Given the description of an element on the screen output the (x, y) to click on. 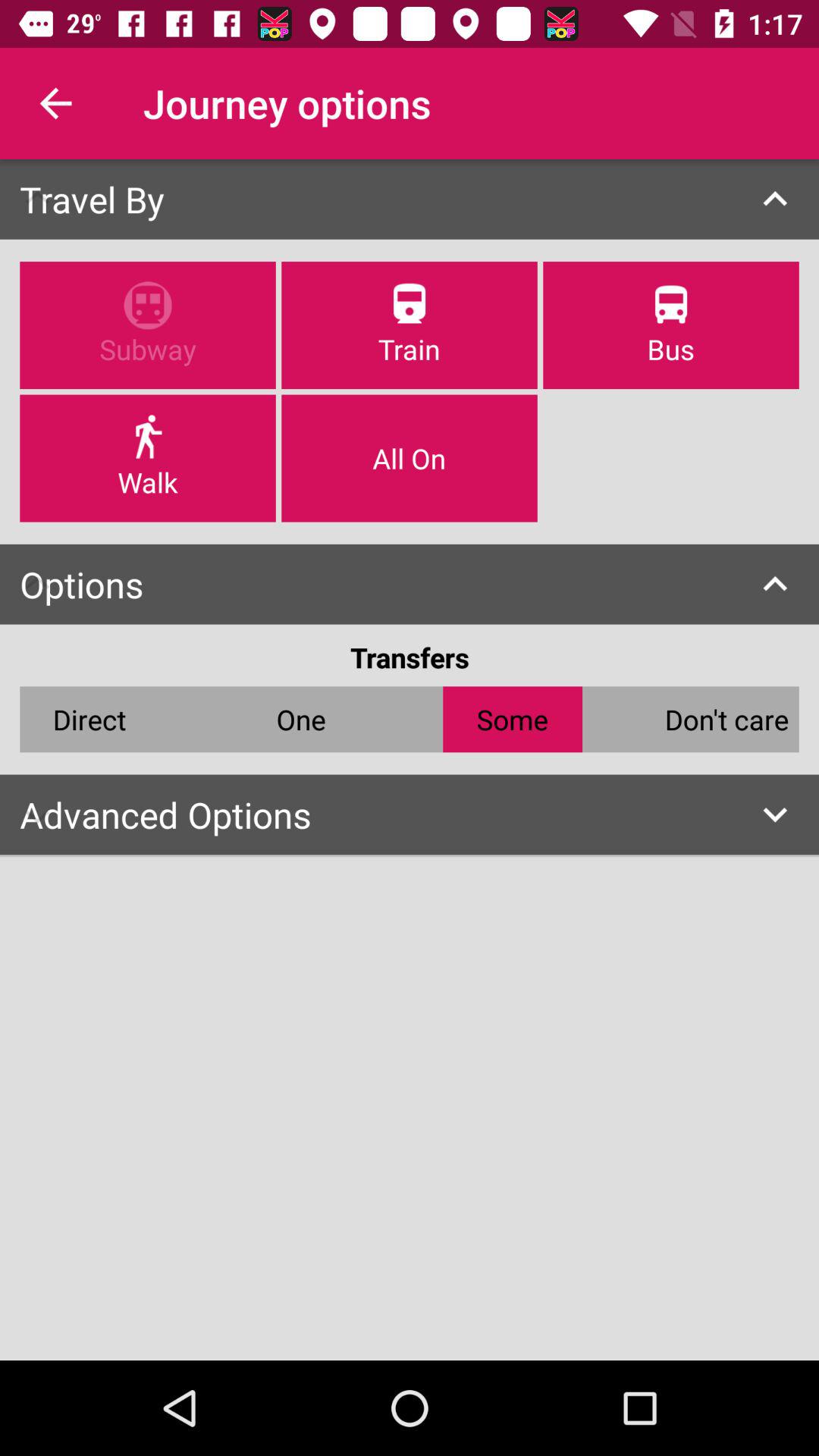
tap don't care item (726, 719)
